Given the description of an element on the screen output the (x, y) to click on. 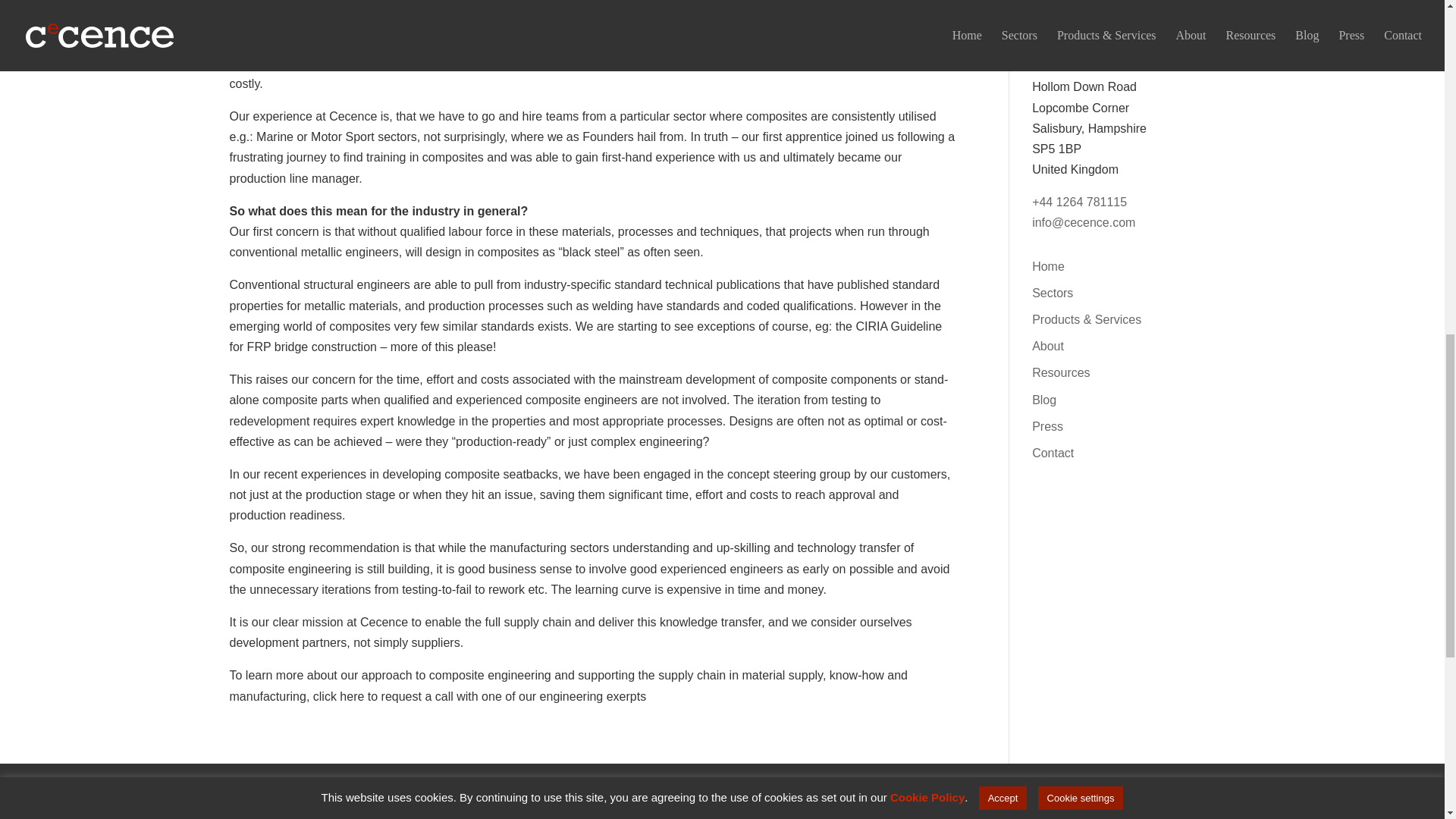
Press (1047, 426)
About (1048, 345)
Home (1048, 266)
Blog (1044, 399)
Sectors (1052, 292)
Resources (1060, 372)
